Given the description of an element on the screen output the (x, y) to click on. 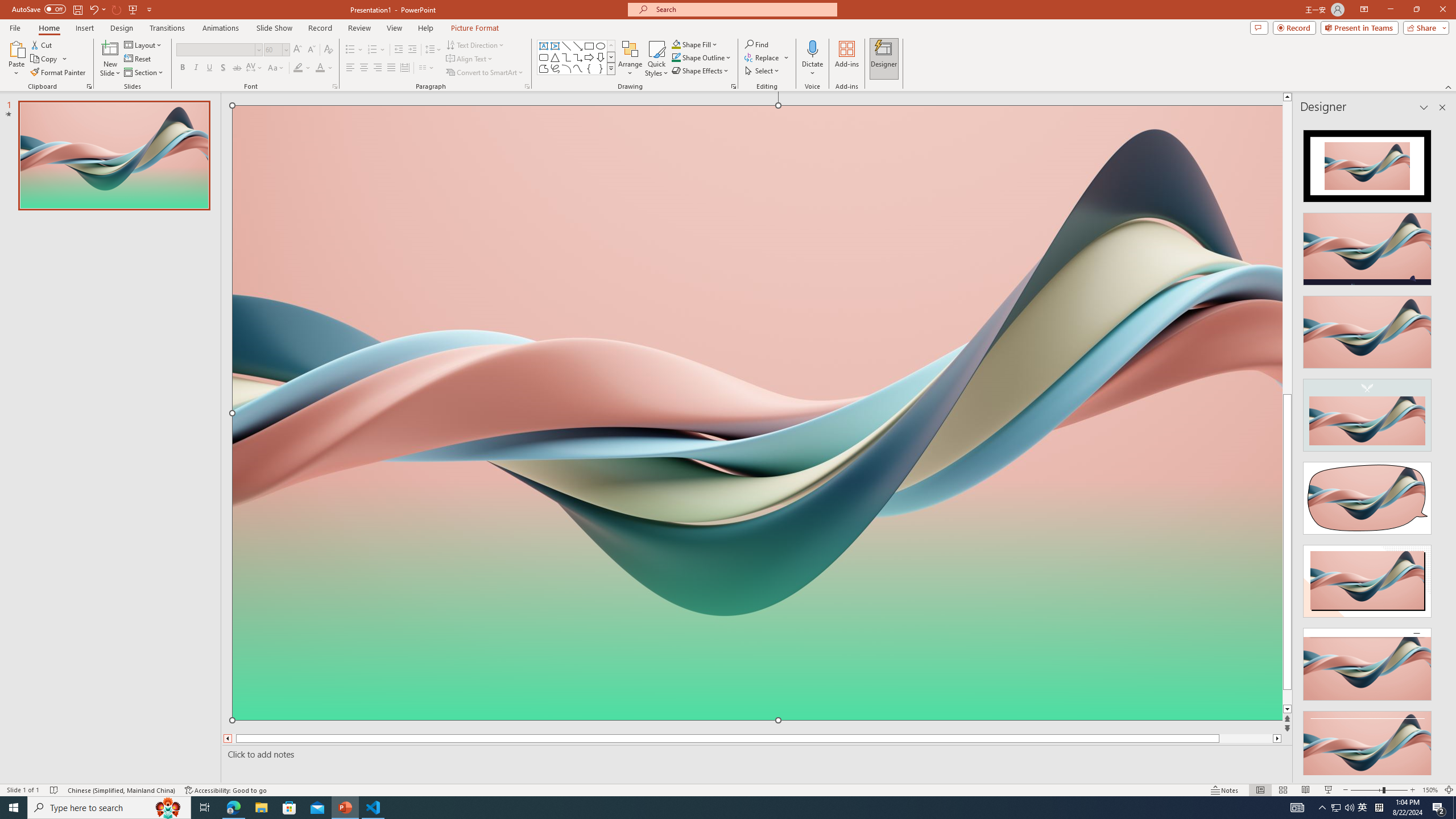
Decorative Locked (757, 579)
Recommended Design: Design Idea (1366, 162)
